Given the description of an element on the screen output the (x, y) to click on. 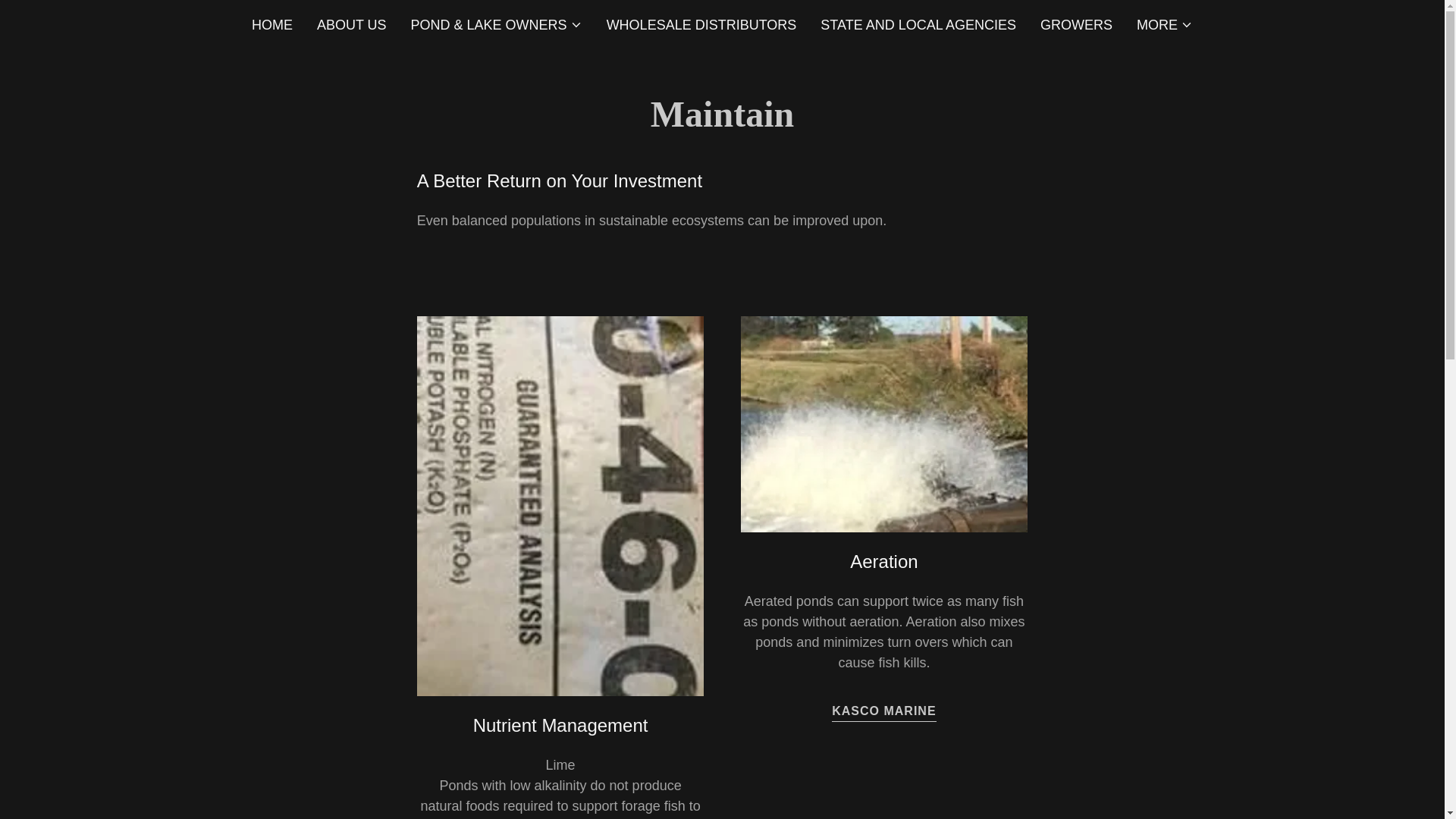
GROWERS (1075, 24)
MORE (1164, 24)
HOME (272, 24)
STATE AND LOCAL AGENCIES (917, 24)
ABOUT US (352, 24)
WHOLESALE DISTRIBUTORS (702, 24)
